Given the description of an element on the screen output the (x, y) to click on. 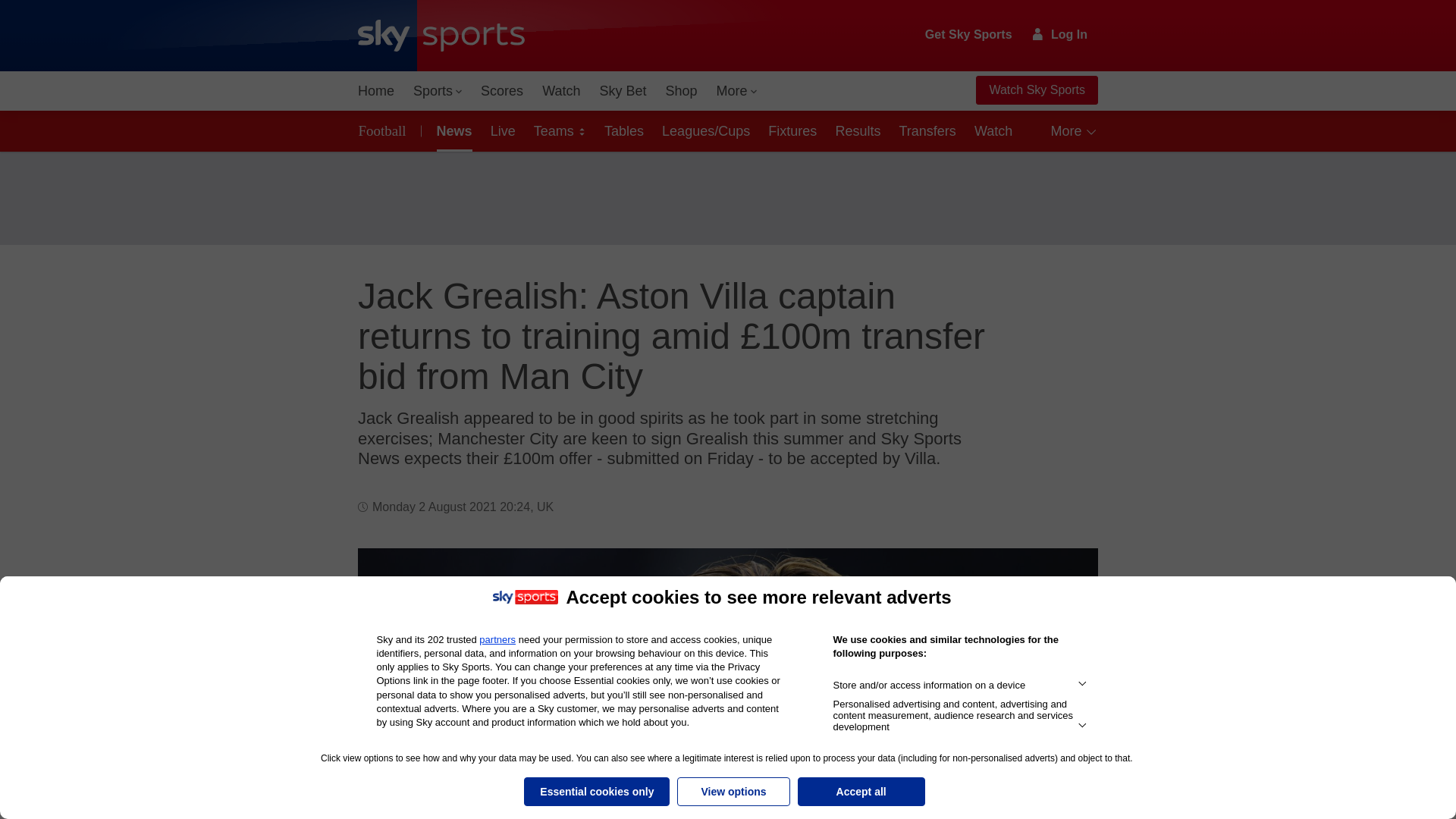
More (736, 91)
Football (385, 130)
Watch (561, 91)
News (451, 130)
Sports (437, 91)
Log In (1060, 33)
Home (375, 91)
Scores (502, 91)
Shop (681, 91)
Get Sky Sports (968, 34)
